Given the description of an element on the screen output the (x, y) to click on. 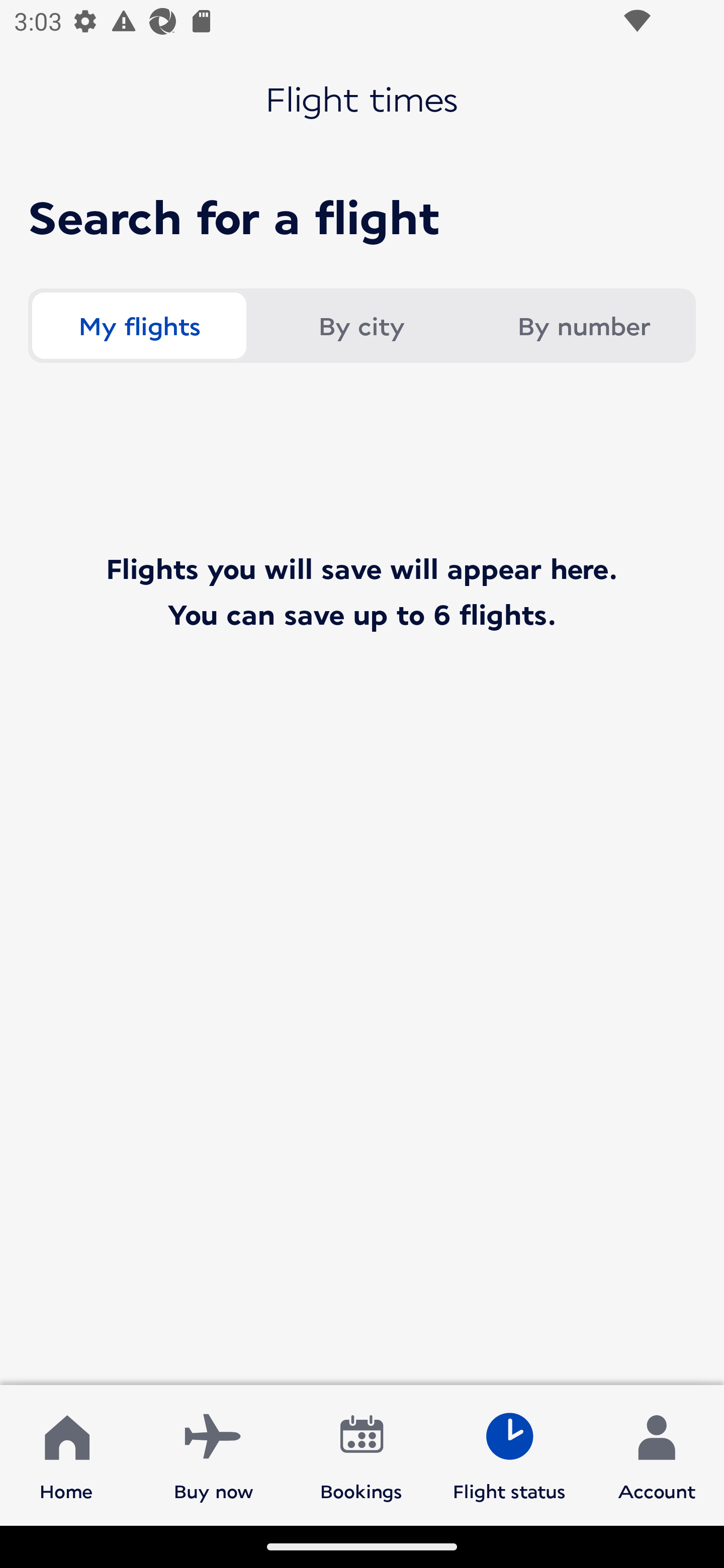
My flights (139, 325)
By city (361, 325)
By number (583, 325)
Home (66, 1454)
Buy now (213, 1454)
Bookings (361, 1454)
Account (657, 1454)
